Given the description of an element on the screen output the (x, y) to click on. 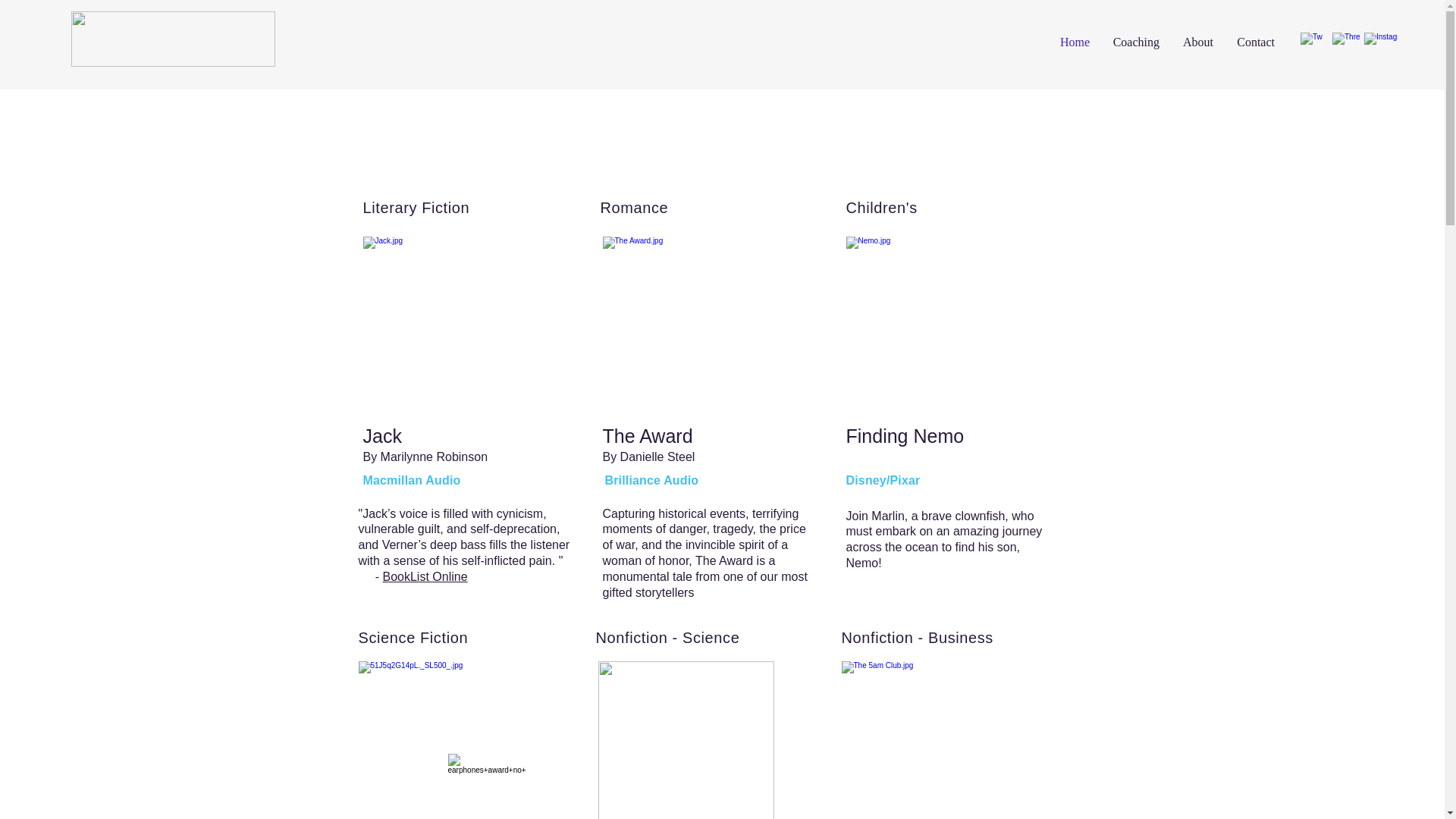
BookList Online (424, 576)
Home (1074, 42)
About (1197, 42)
Coaching (1135, 42)
Contact (1254, 42)
adam-vernerNOPAGE.png (173, 38)
